Given the description of an element on the screen output the (x, y) to click on. 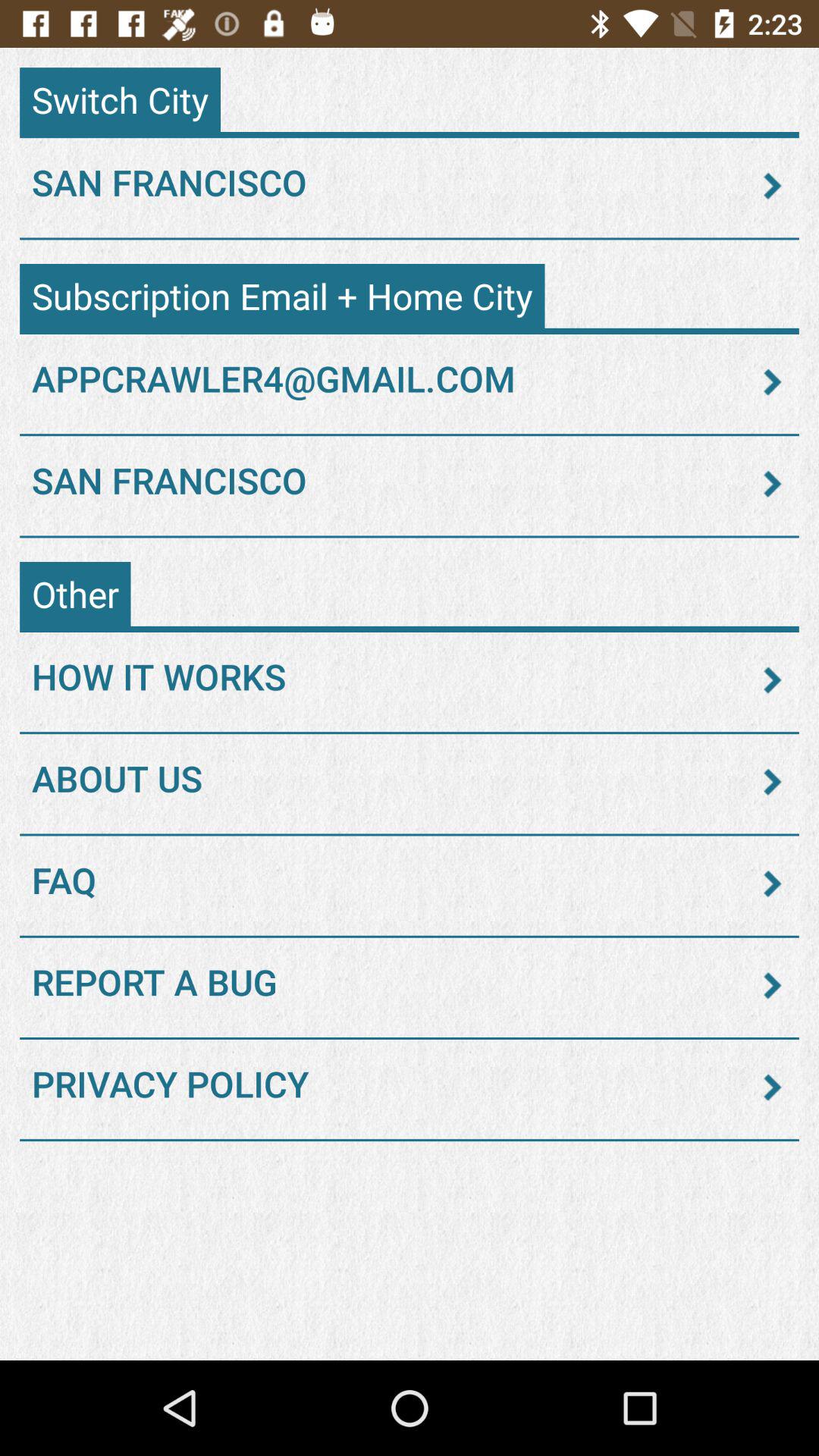
launch the about us (409, 781)
